Given the description of an element on the screen output the (x, y) to click on. 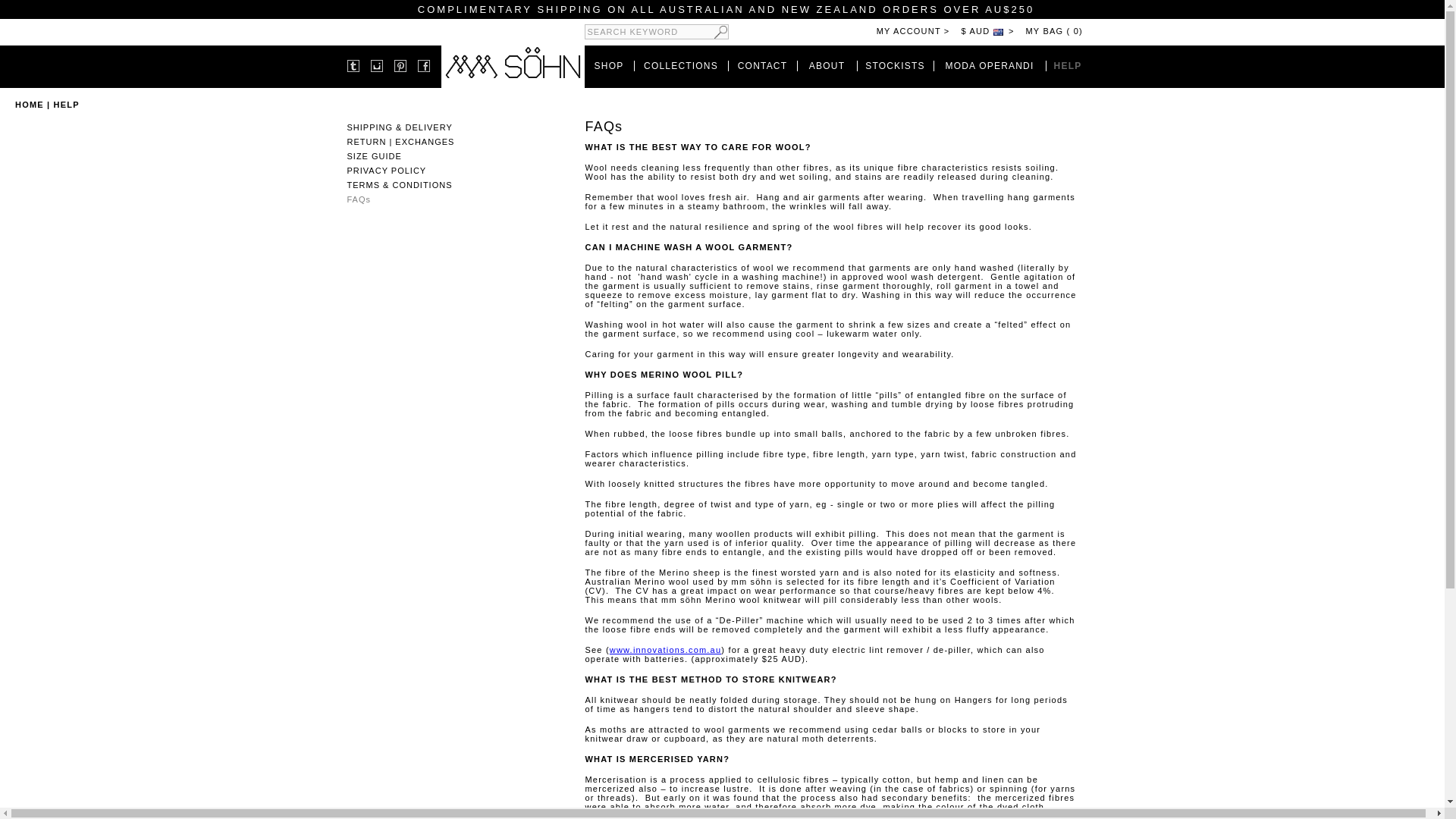
CONTACT (762, 65)
HOME (28, 103)
www.innovations.com.au (665, 649)
STOCKISTS (894, 65)
HELP (1067, 65)
SEARCH KEYWORD (655, 31)
MODA OPERANDI (988, 65)
COLLECTIONS (680, 65)
ABOUT (826, 65)
SHOP (609, 65)
